Given the description of an element on the screen output the (x, y) to click on. 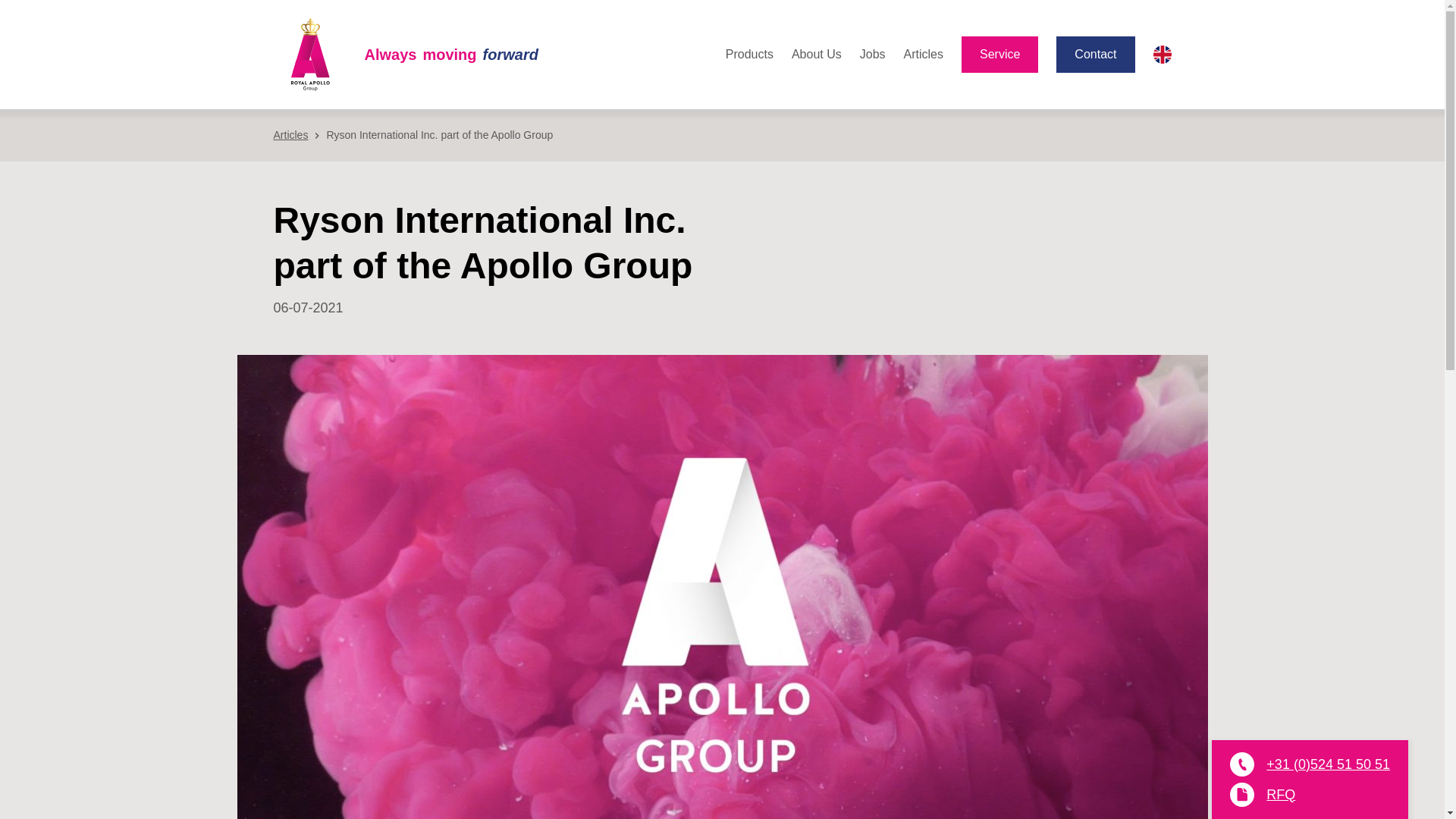
About Us (816, 54)
Service (450, 54)
Jobs (999, 54)
Articles (872, 54)
Contact (290, 134)
Apollo (1095, 54)
Articles (309, 54)
Service (923, 54)
Articles (999, 54)
About Us (923, 54)
Contact (816, 54)
Apollo (1095, 54)
Products (450, 54)
Jobs (749, 54)
